Given the description of an element on the screen output the (x, y) to click on. 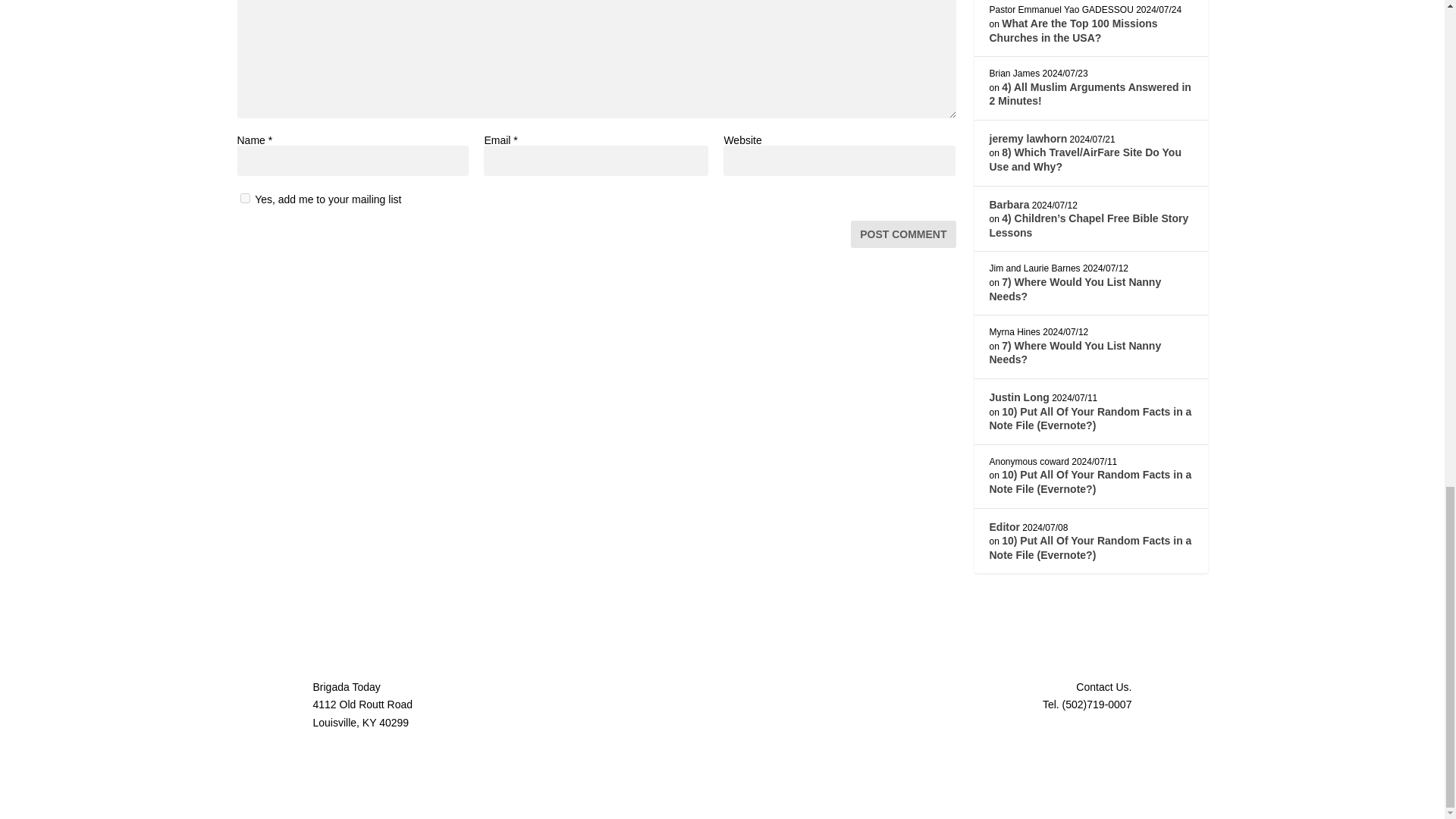
1 (244, 198)
Post Comment (902, 234)
Post Comment (902, 234)
